Given the description of an element on the screen output the (x, y) to click on. 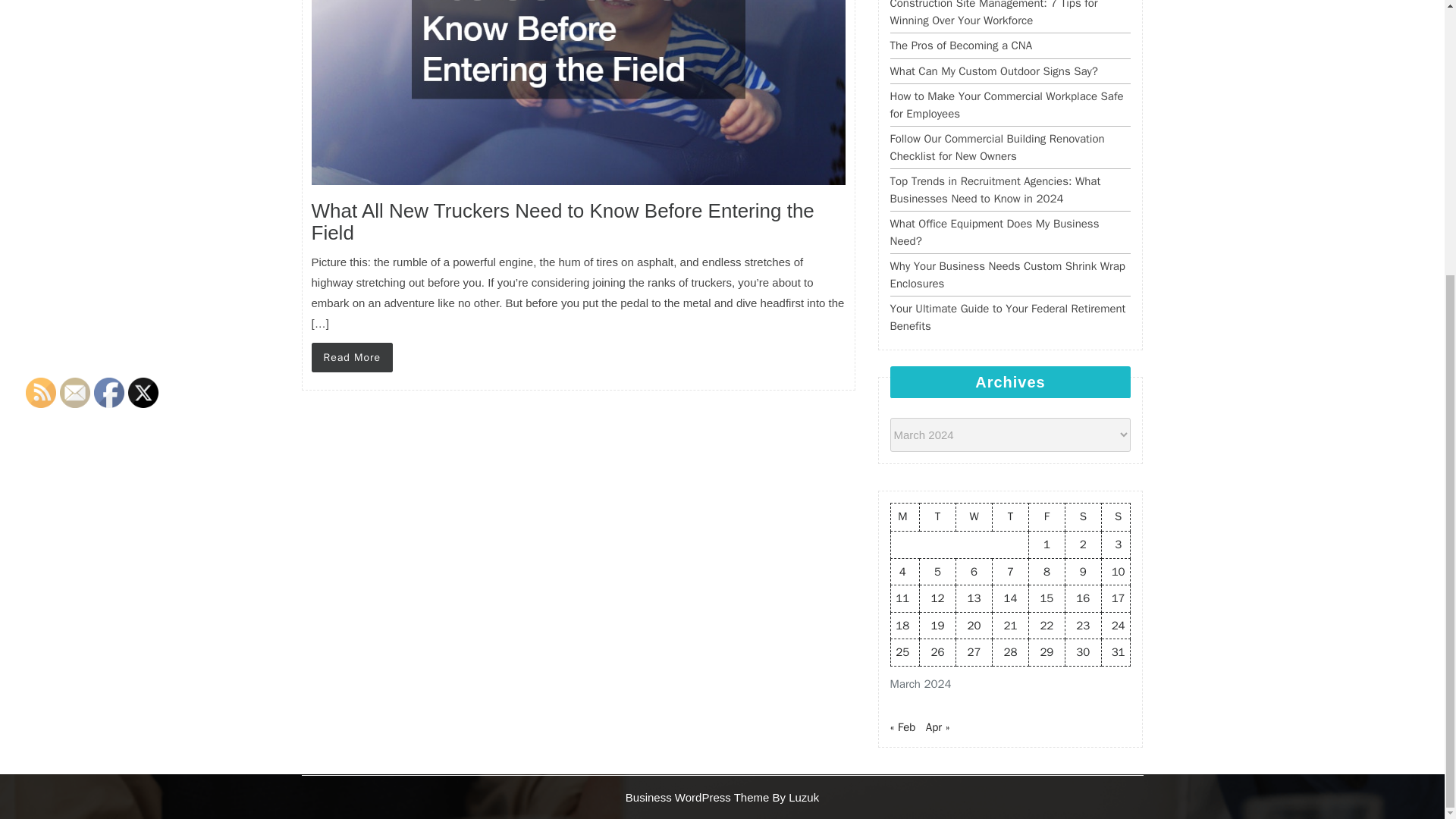
Read More (352, 357)
12 (937, 598)
Facebook (108, 391)
The Pros of Becoming a CNA (960, 45)
20 (974, 625)
Tuesday (938, 517)
Monday (904, 517)
Thursday (1009, 517)
RSS (41, 391)
